Given the description of an element on the screen output the (x, y) to click on. 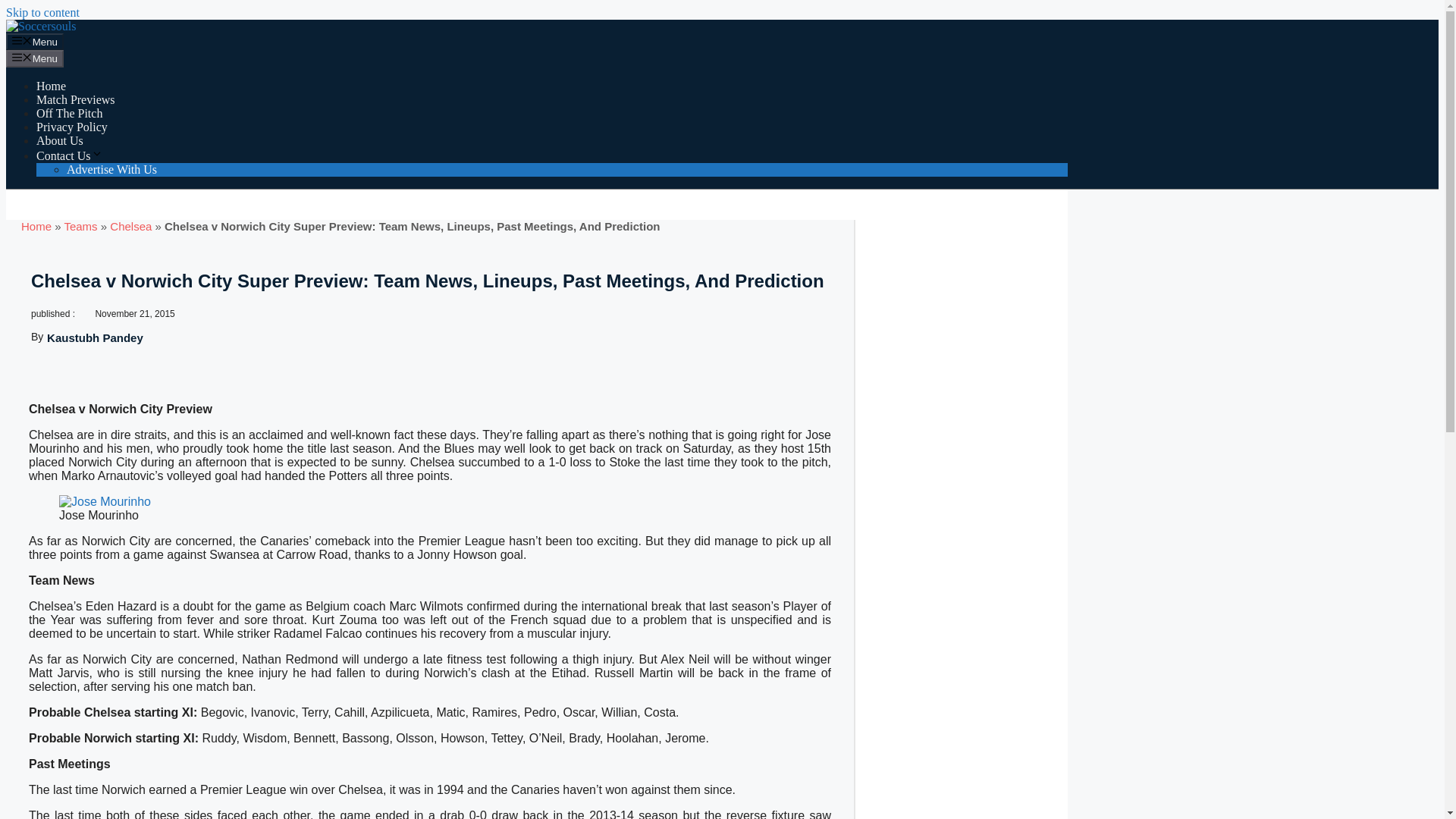
Contact Us (69, 155)
Chelsea (130, 226)
Skip to content (42, 11)
Match Previews (75, 99)
Off The Pitch (68, 113)
Teams (80, 226)
Home (50, 85)
Menu (34, 57)
Skip to content (42, 11)
Home (35, 226)
